Given the description of an element on the screen output the (x, y) to click on. 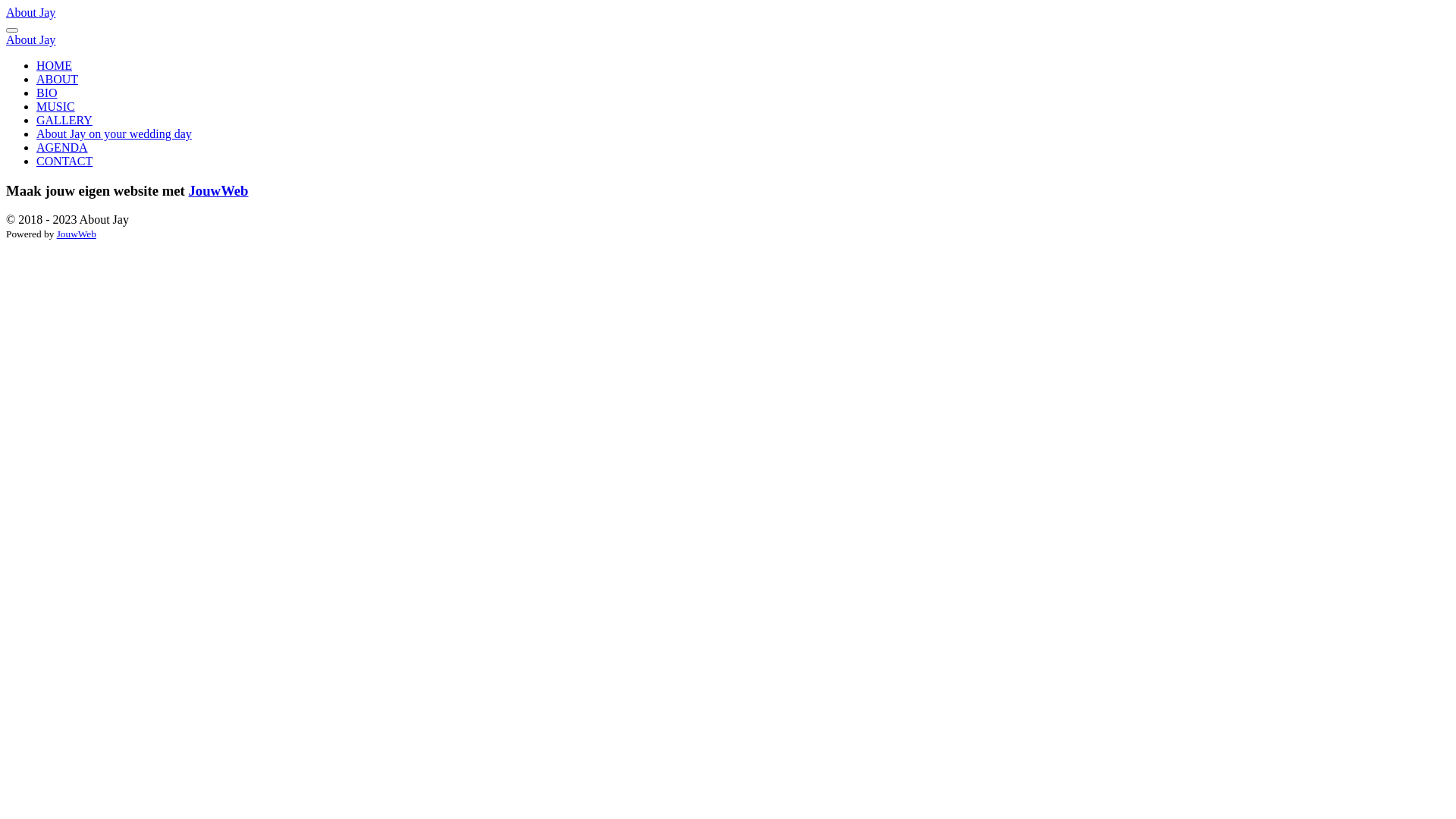
BIO Element type: text (46, 92)
JouwWeb Element type: text (218, 190)
GALLERY Element type: text (64, 119)
HOME Element type: text (54, 65)
CONTACT Element type: text (64, 160)
ABOUT Element type: text (57, 78)
About Jay on your wedding day Element type: text (113, 133)
About Jay Element type: text (30, 12)
MUSIC Element type: text (55, 106)
AGENDA Element type: text (61, 147)
About Jay Element type: text (30, 39)
JouwWeb Element type: text (76, 233)
